Given the description of an element on the screen output the (x, y) to click on. 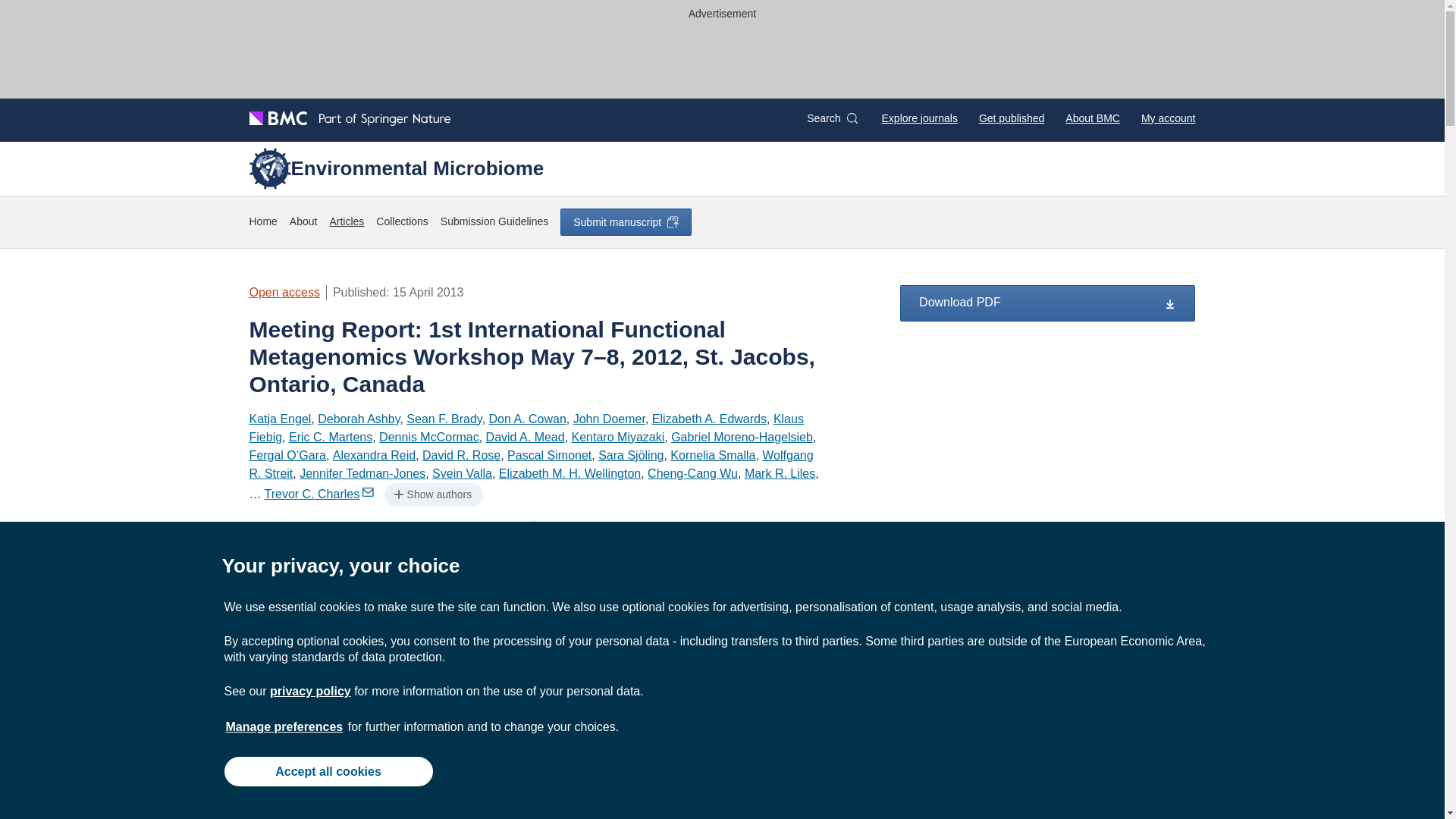
About BMC (1092, 118)
Submission Guidelines (494, 221)
David A. Mead (525, 436)
privacy policy (309, 690)
Show all 27 authors for this article (254, 493)
Get published (1010, 118)
Eric C. Martens (330, 436)
Home (262, 221)
Klaus Fiebig (525, 427)
Manage preferences (284, 726)
